Given the description of an element on the screen output the (x, y) to click on. 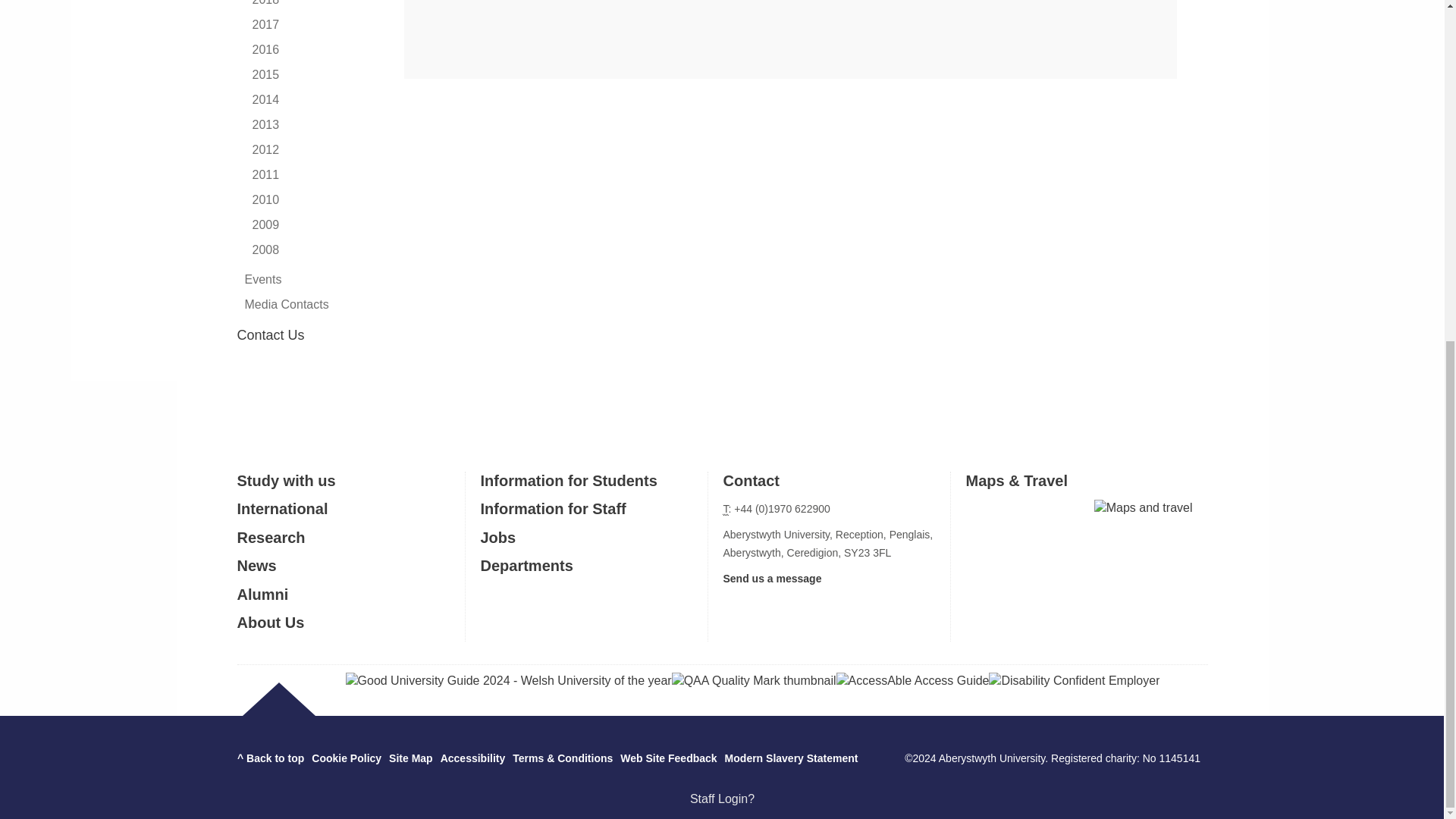
Accessibility information (473, 758)
Modern Slavery Statement (792, 758)
Cookie Policy (346, 758)
A text map of this web site. (410, 758)
Send us feedback on this web site. (668, 758)
